Given the description of an element on the screen output the (x, y) to click on. 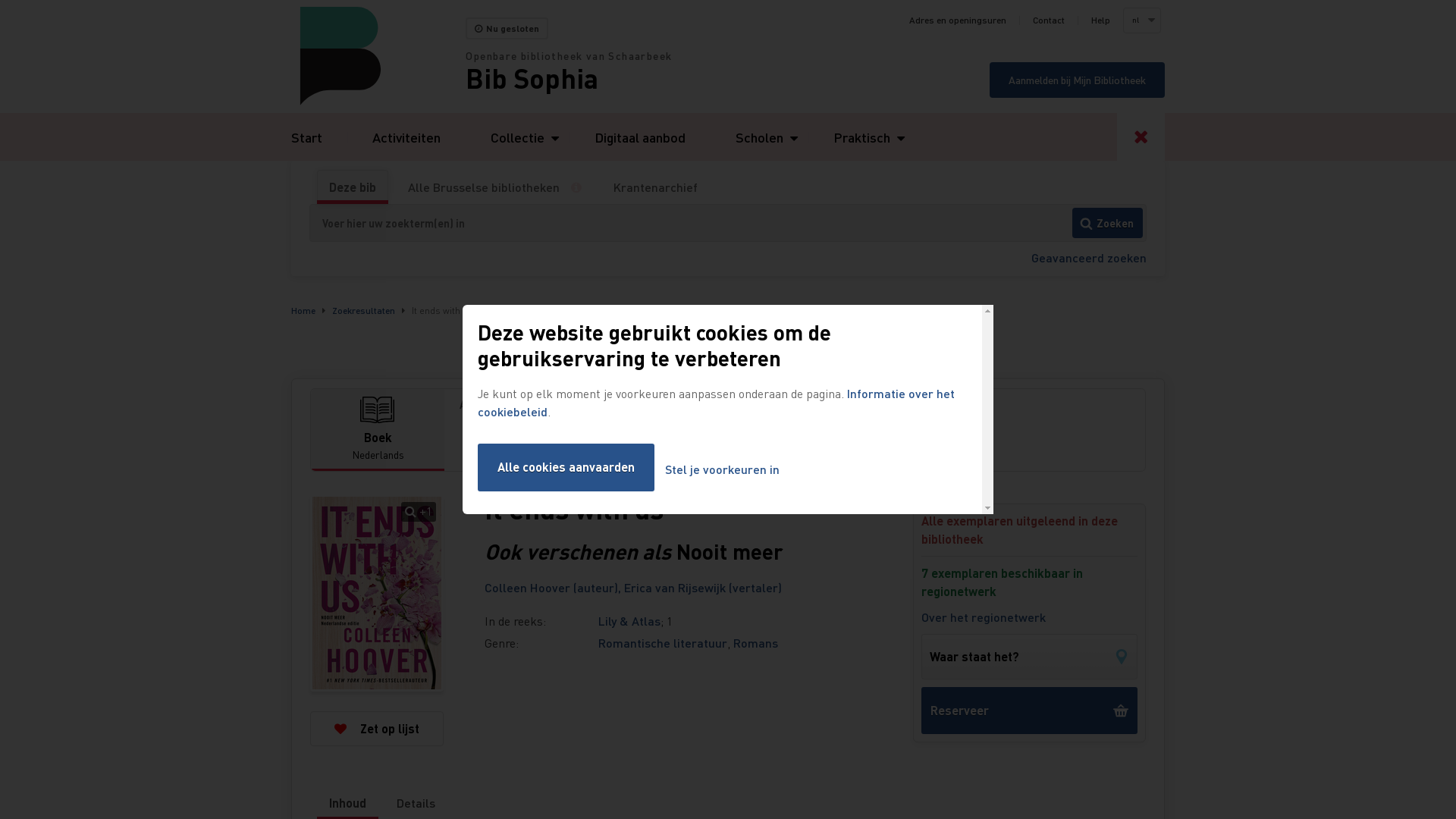
Digitaal aanbod Element type: text (639, 136)
Lily & Atlas Element type: text (629, 620)
Nu gesloten Element type: text (506, 28)
Erica van Rijsewijk (vertaler) Element type: text (702, 587)
Andere formaten Element type: text (794, 404)
Alle cookies aanvaarden Element type: text (565, 466)
Activiteiten Element type: text (406, 136)
Informatie over het cookiebeleid Element type: text (715, 402)
Overslaan en naar zoeken gaan Element type: text (0, 0)
Alle Brusselse bibliotheken Element type: text (483, 186)
Home Element type: text (303, 310)
Home Element type: hover (378, 55)
Waar staat het? Element type: text (1029, 656)
Toggle search Element type: hover (1140, 136)
Zoekresultaten Element type: text (363, 310)
Adres en openingsuren Element type: text (957, 20)
E-boek Element type: text (486, 441)
Colleen Hoover (auteur), Element type: text (554, 587)
Zoeken Element type: text (1107, 222)
Contact Element type: text (1048, 20)
Reserveer Element type: text (1029, 710)
nl Element type: text (1140, 20)
Zet op lijst Element type: text (376, 728)
Meer informatie Element type: hover (582, 186)
Geavanceerd zoeken Element type: text (1088, 257)
Deze bib Element type: text (352, 186)
Help Element type: text (1100, 20)
Romantische literatuur Element type: text (662, 642)
Over het regionetwerk Element type: text (983, 617)
Krantenarchief Element type: text (655, 186)
Aanmelden bij Mijn Bibliotheek Element type: text (1076, 79)
Romans Element type: text (755, 642)
Start Element type: text (306, 136)
Stel je voorkeuren in Element type: text (722, 469)
